Given the description of an element on the screen output the (x, y) to click on. 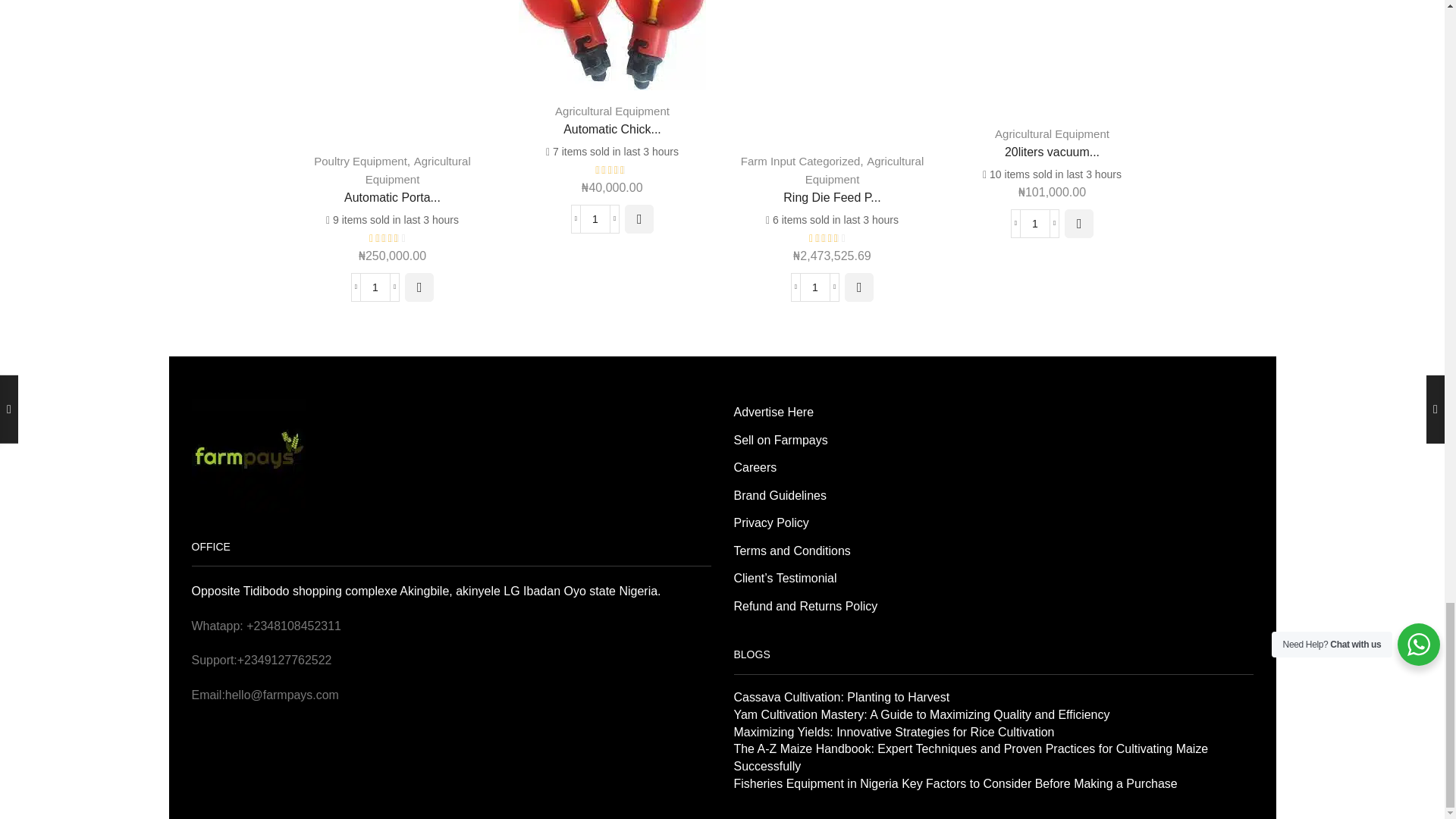
1 (375, 287)
1 (1034, 223)
1 (814, 287)
1 (595, 218)
